Given the description of an element on the screen output the (x, y) to click on. 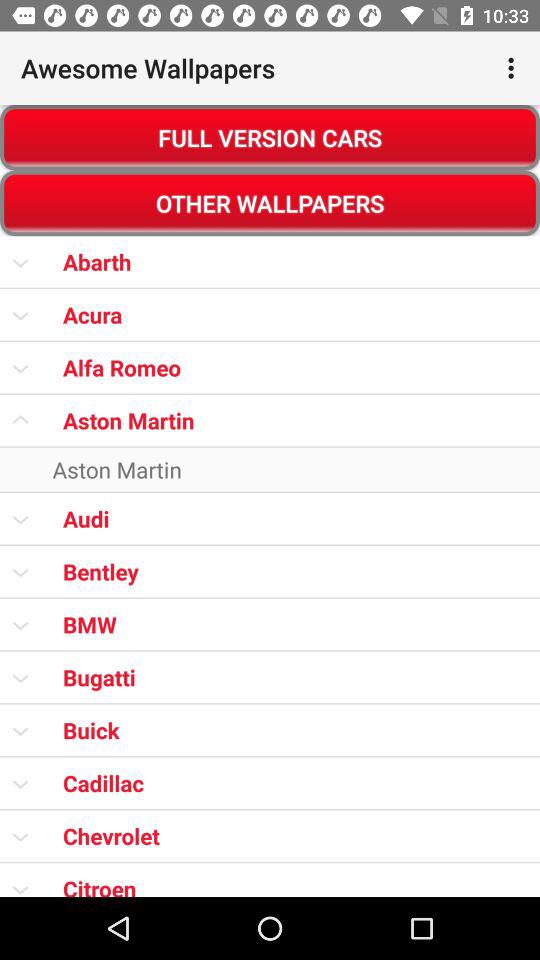
turn off icon next to the awesome wallpapers (513, 67)
